Given the description of an element on the screen output the (x, y) to click on. 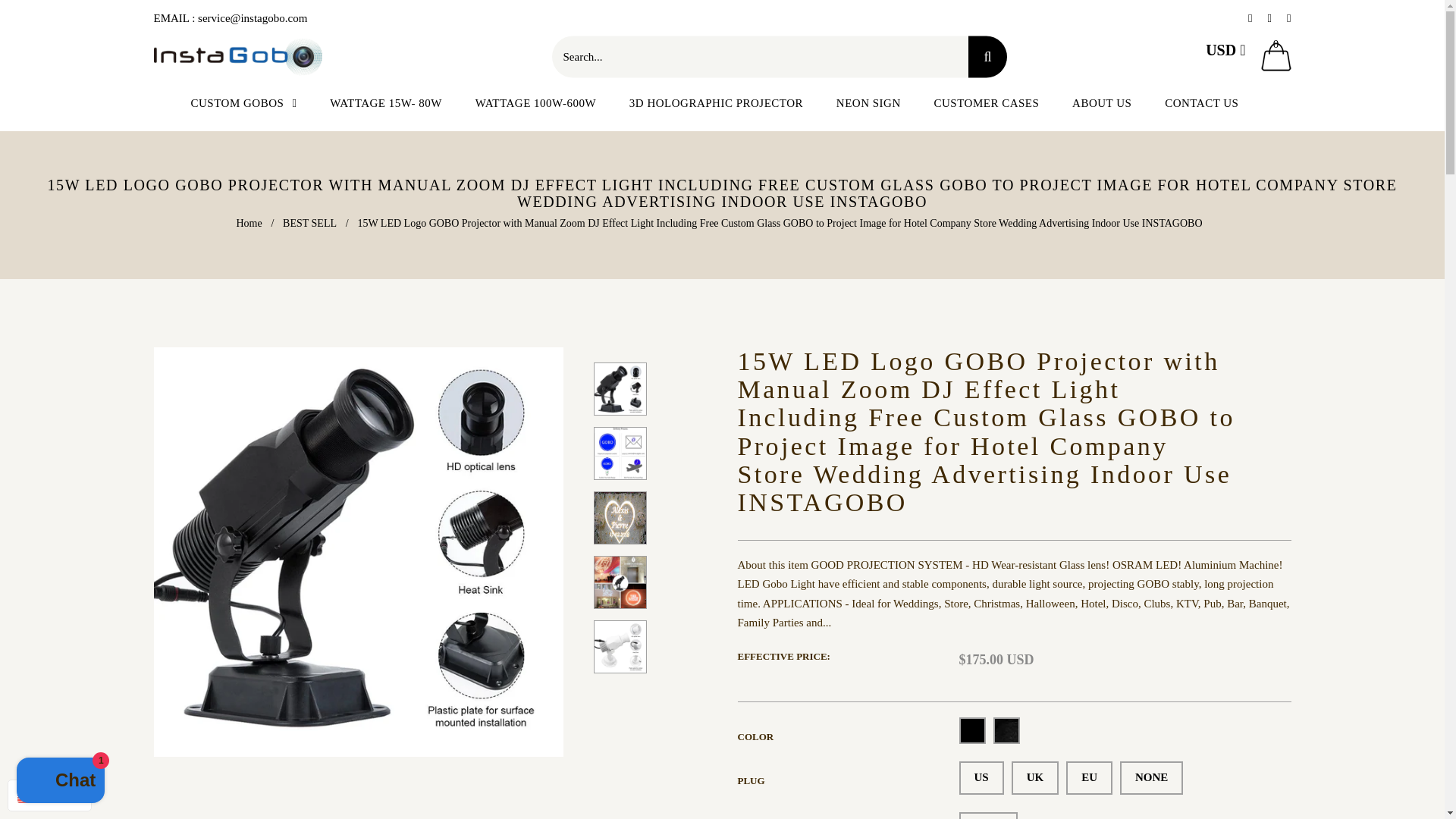
Shopify online store chat (60, 781)
CONTACT US (1201, 103)
WATTAGE 100W-600W (535, 103)
ABOUT US (1102, 103)
CUSTOMER CASES (986, 103)
CUSTOM GOBOS (251, 103)
WATTAGE 15W- 80W (385, 103)
0 (1275, 55)
USD (1225, 49)
Back to the frontpage (249, 223)
Wishlist (1288, 18)
3D HOLOGRAPHIC PROJECTOR (716, 103)
NEON SIGN (868, 103)
